Given the description of an element on the screen output the (x, y) to click on. 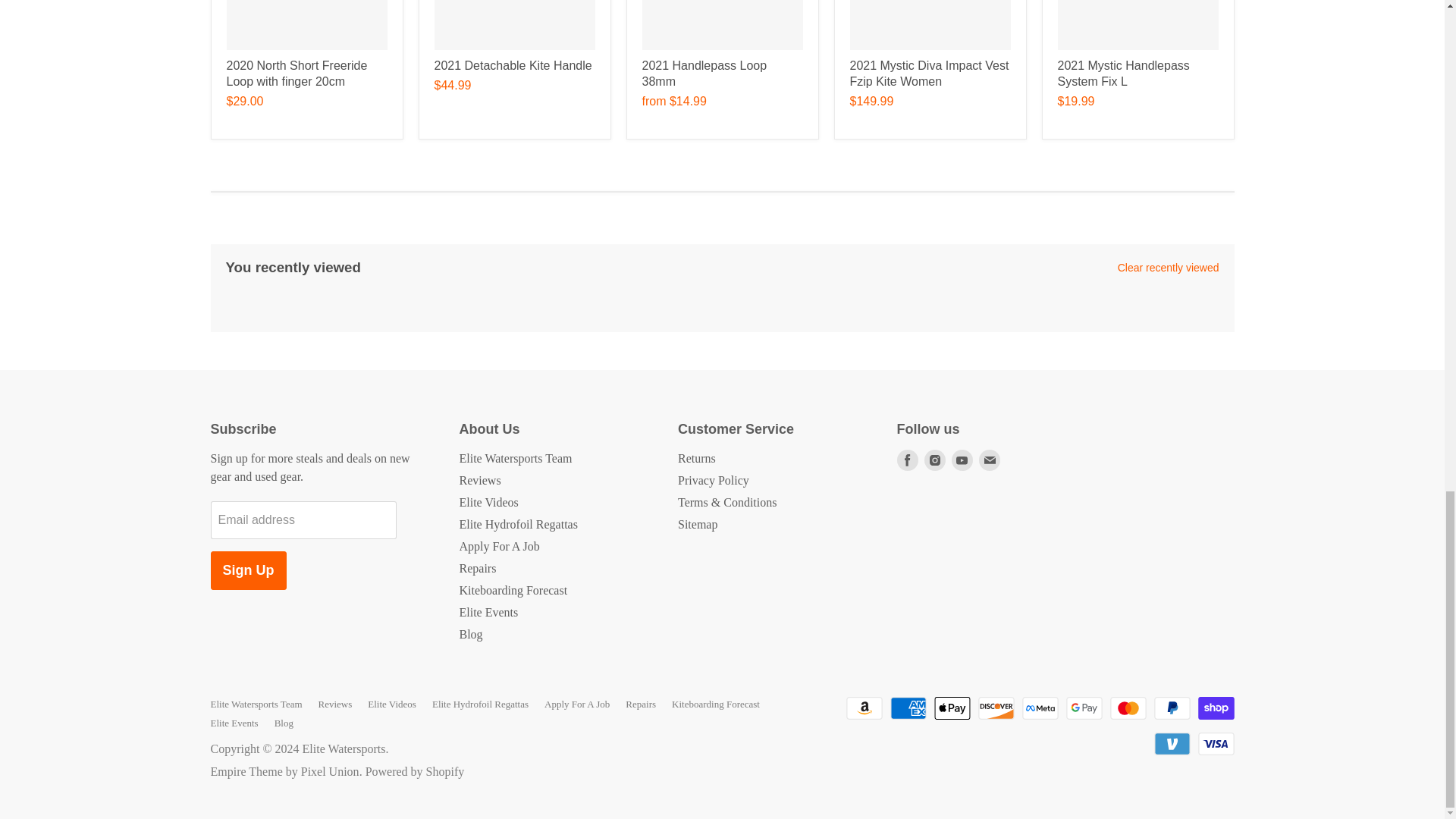
2021 Detachable Kite Handle (512, 65)
Amazon (863, 707)
Youtube (961, 460)
2020 North Short Freeride Loop with finger 20cm (295, 72)
Mastercard (1128, 707)
Meta Pay (1040, 707)
2021 Handlepass Loop 38mm (704, 72)
Facebook (906, 460)
Instagram (933, 460)
PayPal (1172, 707)
